Given the description of an element on the screen output the (x, y) to click on. 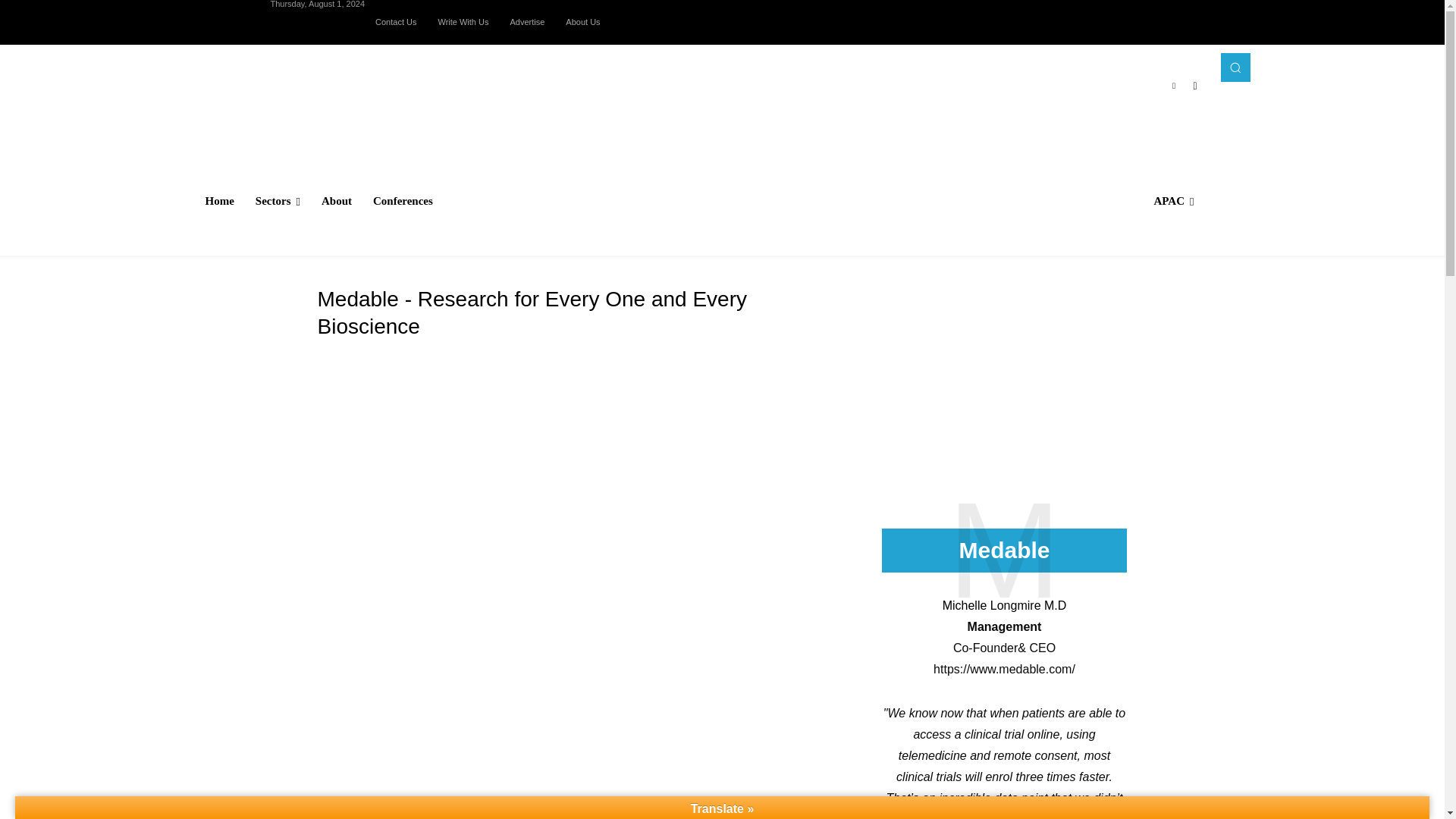
Contact Us (395, 22)
Twitter (1195, 85)
Sectors (277, 200)
Conferences (403, 200)
About (336, 200)
APAC (1173, 200)
About Us (582, 22)
Home (218, 200)
Write With Us (462, 22)
Linkedin (1174, 85)
Advertise (526, 22)
